Given the description of an element on the screen output the (x, y) to click on. 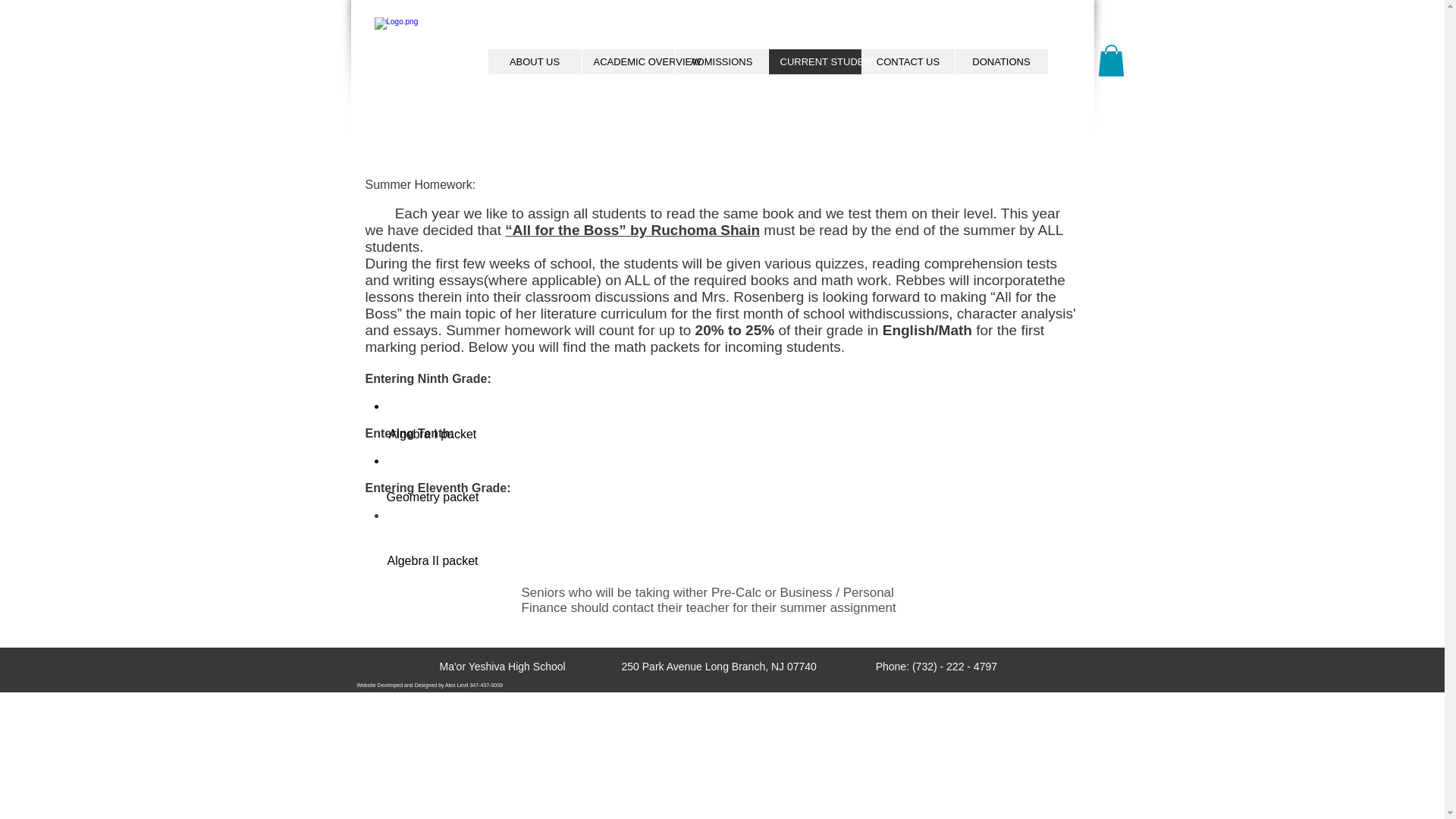
Geometry packet (432, 497)
Algebra I packet (432, 434)
Algebra II packet (432, 561)
ABOUT US (533, 61)
ACADEMIC OVERVIEW (627, 61)
CONTACT US (908, 61)
DONATIONS (999, 61)
ADMISSIONS (721, 61)
CURRENT STUDENTS (813, 61)
